Given the description of an element on the screen output the (x, y) to click on. 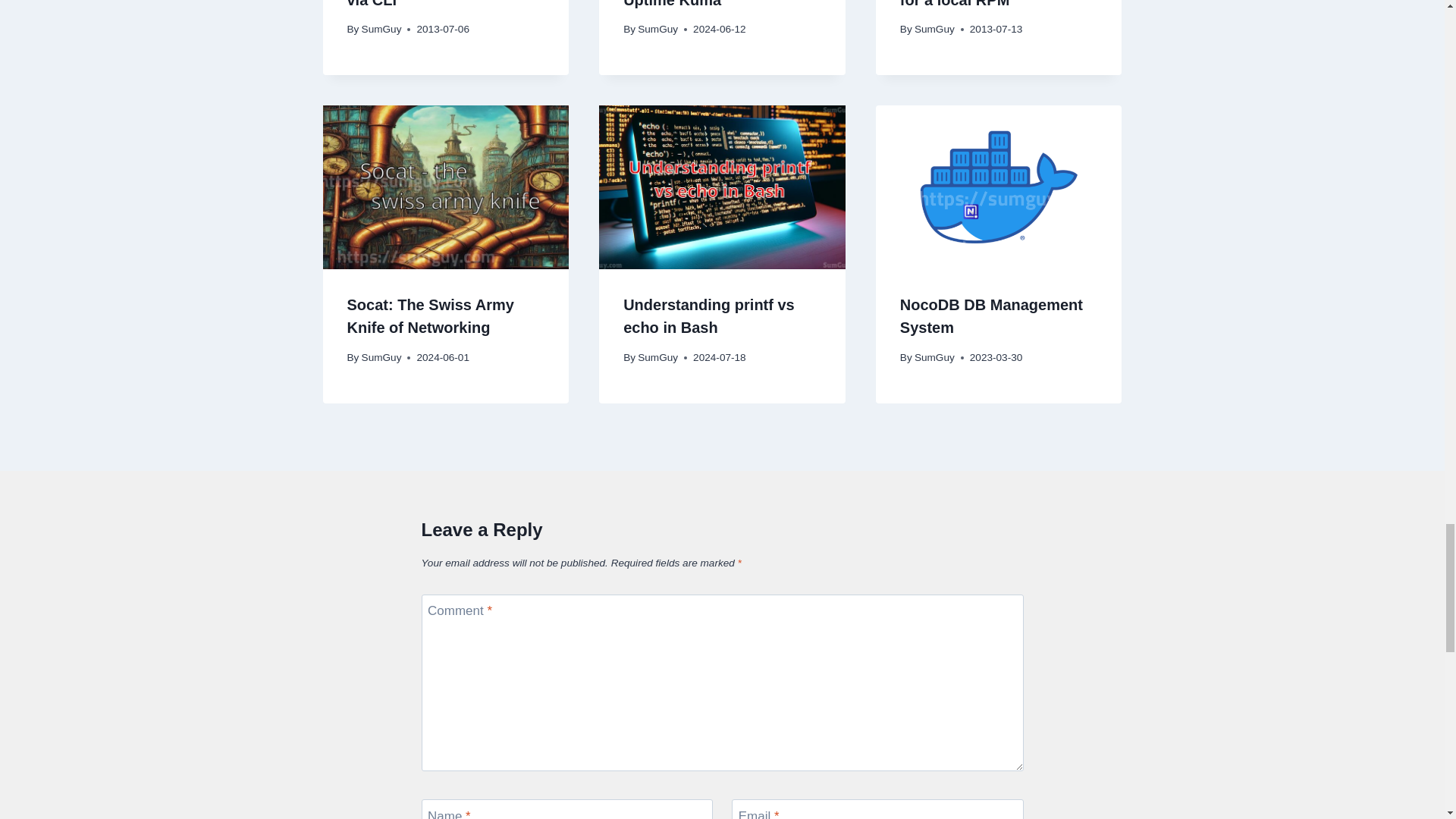
Generate file of fixed size via CLI (438, 4)
SumGuy (381, 29)
SumGuy (934, 29)
Uptime Monitoring with Uptime Kuma (707, 4)
Yum install dependencies for a local RPM (992, 4)
SumGuy (657, 29)
